Given the description of an element on the screen output the (x, y) to click on. 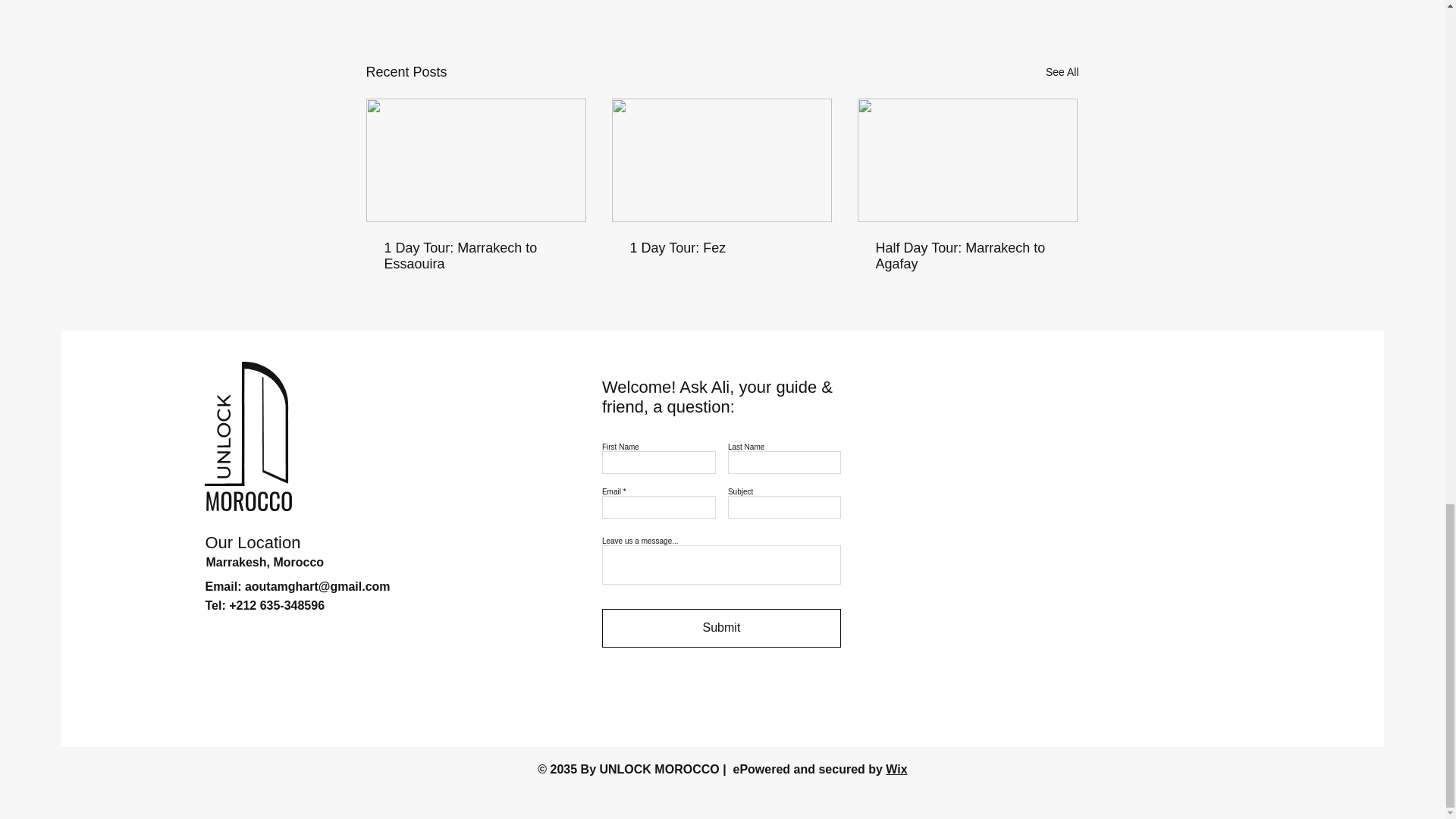
Half Day Tour: Marrakech to Agafay (966, 255)
1 Day Tour: Marrakech to Essaouira (475, 255)
See All (1061, 72)
1 Day Tour: Fez (720, 248)
Submit (721, 628)
